Given the description of an element on the screen output the (x, y) to click on. 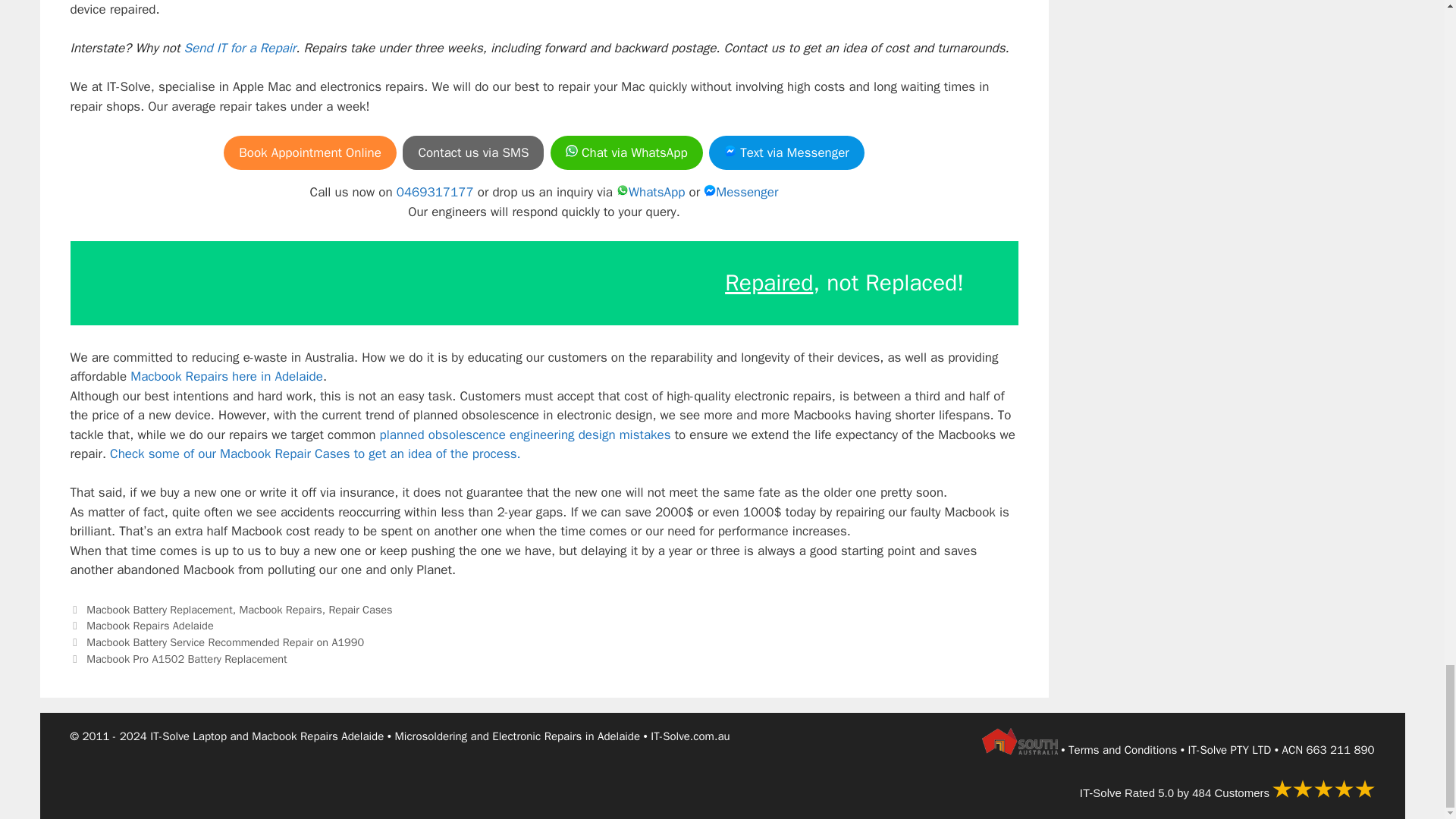
Previous (216, 642)
Next (177, 658)
